Given the description of an element on the screen output the (x, y) to click on. 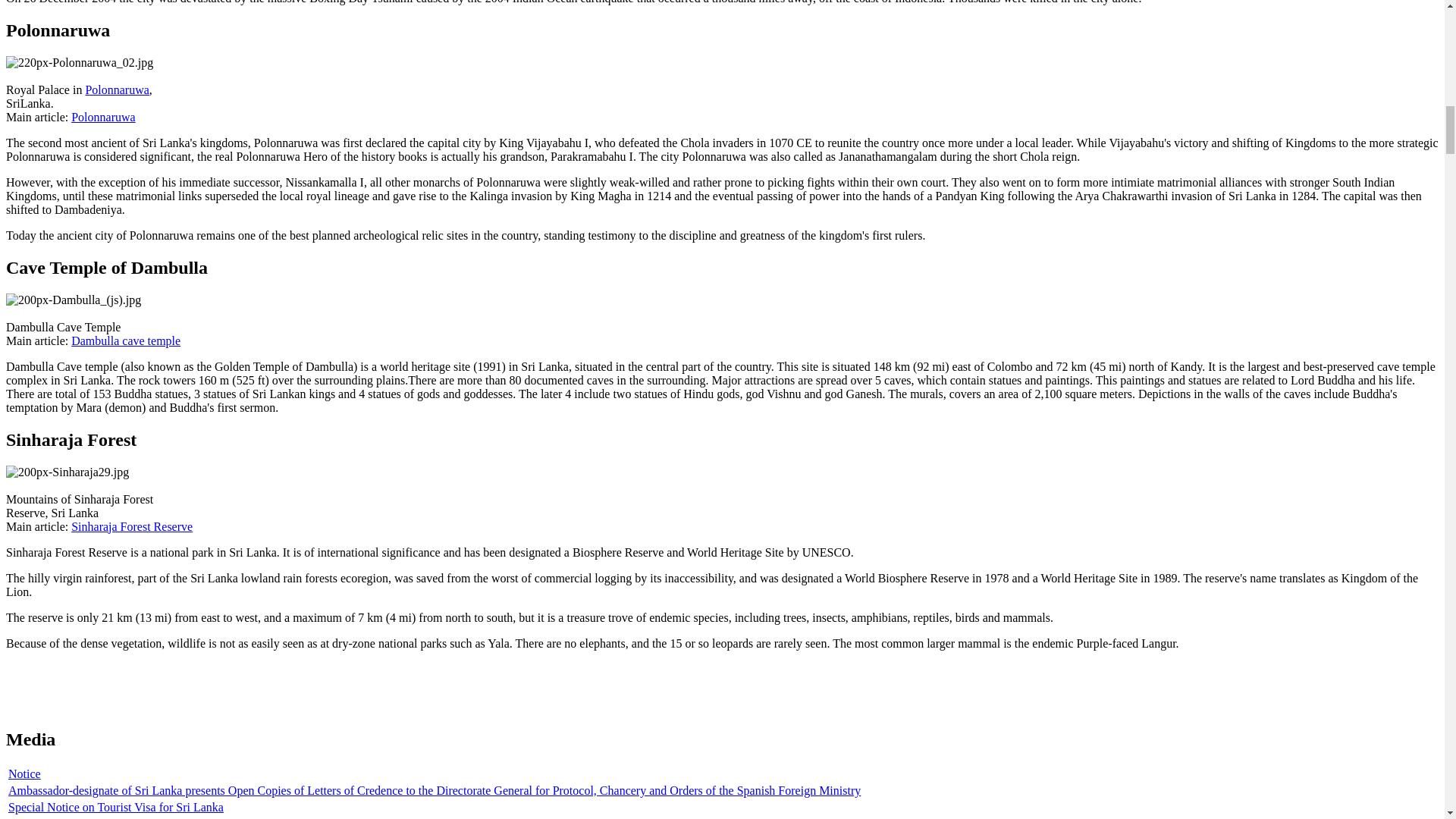
Sinharaja Forest Reserve (131, 526)
Polonnaruwa (116, 89)
Polonnaruwa (103, 116)
Dambulla cave temple (125, 340)
